Given the description of an element on the screen output the (x, y) to click on. 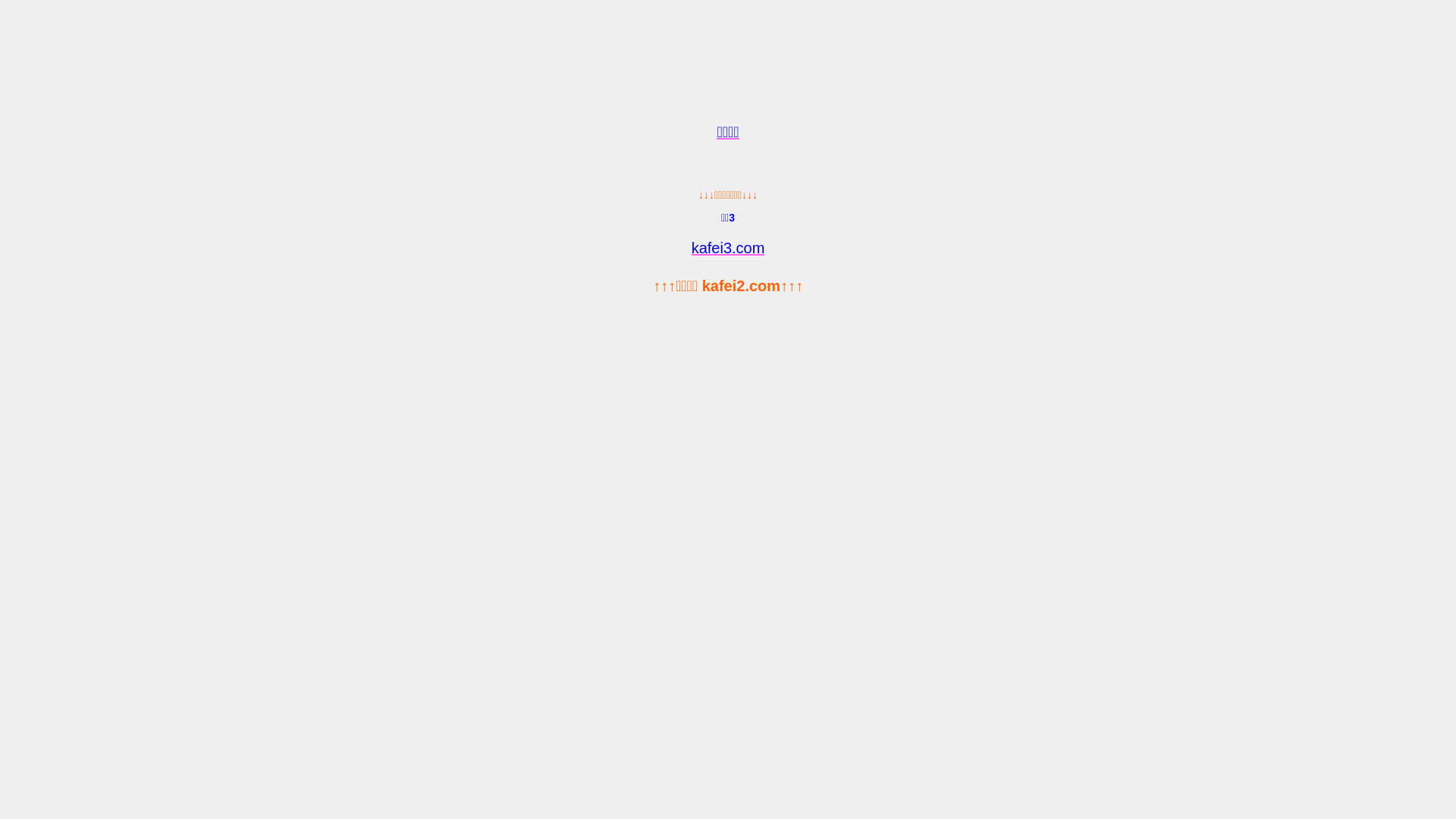
kafei3.com Element type: text (728, 247)
